Given the description of an element on the screen output the (x, y) to click on. 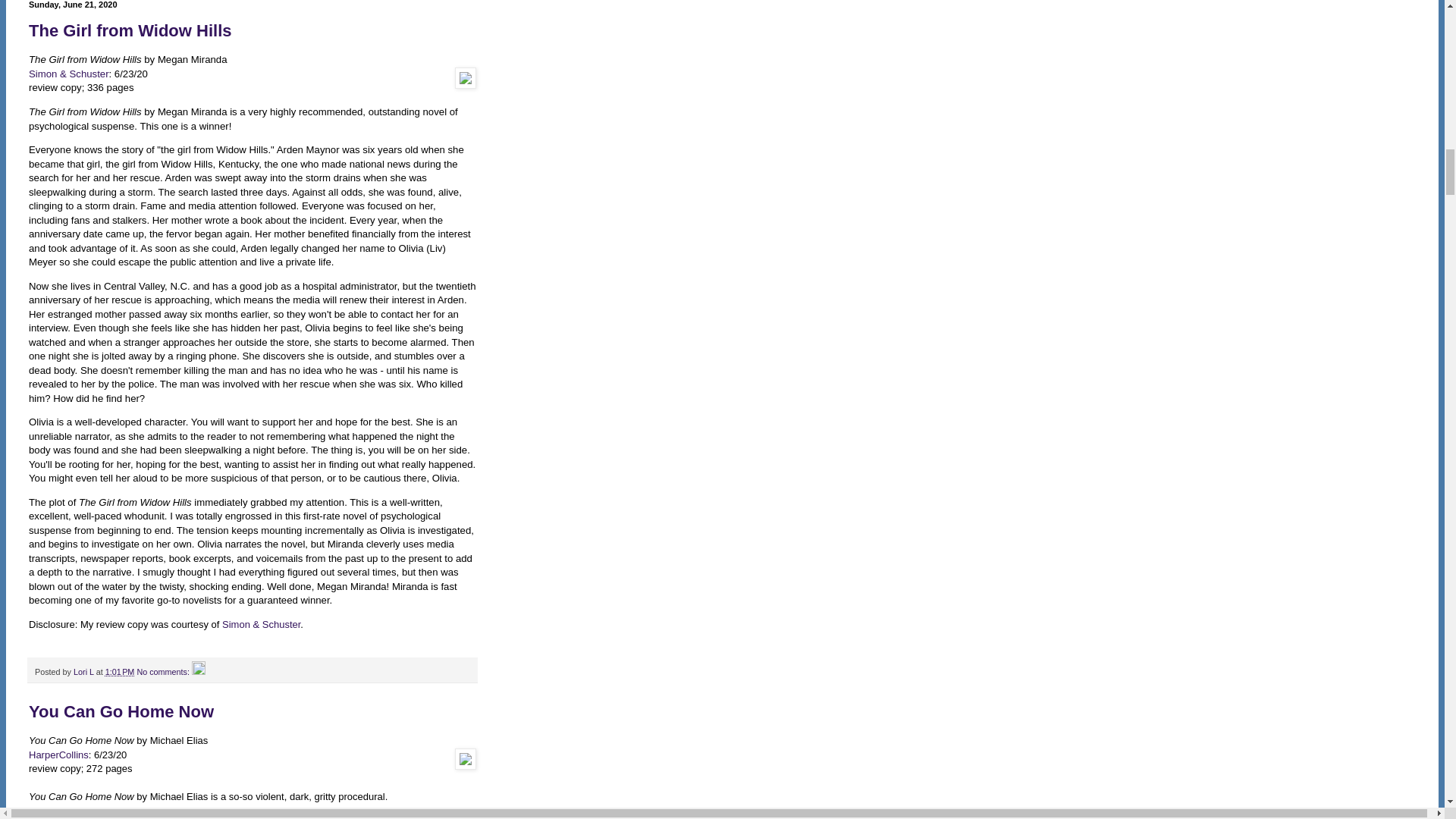
author profile (85, 671)
The Girl from Widow Hills (130, 30)
